Given the description of an element on the screen output the (x, y) to click on. 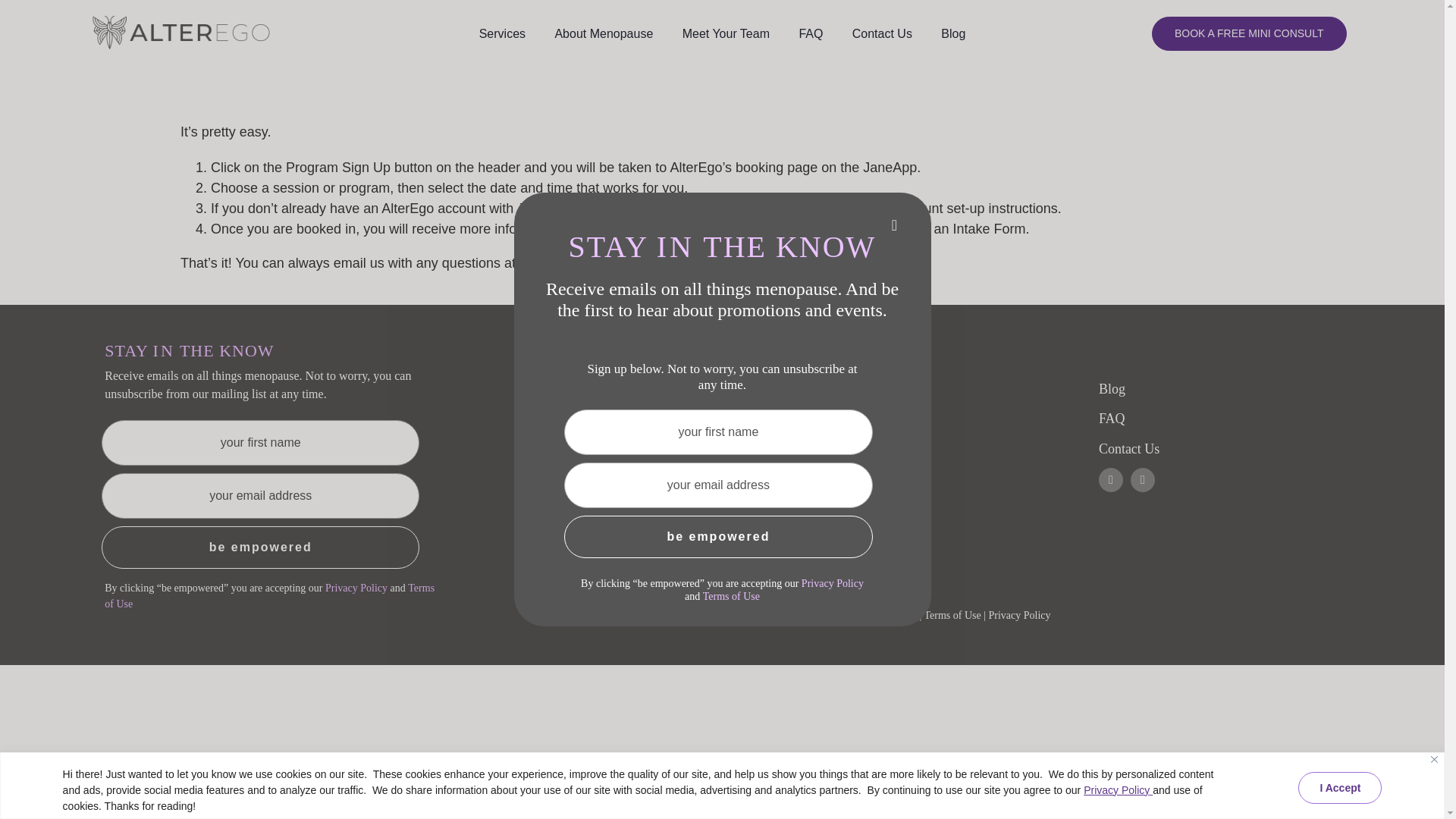
Contact Us (881, 32)
be empowered (718, 536)
About Menopause (603, 32)
Blog (952, 32)
FAQ (809, 32)
be empowered (260, 547)
AlterEgo Logo Horizonal Dark Grey (180, 32)
Meet Your Team (726, 32)
Services (502, 32)
